Given the description of an element on the screen output the (x, y) to click on. 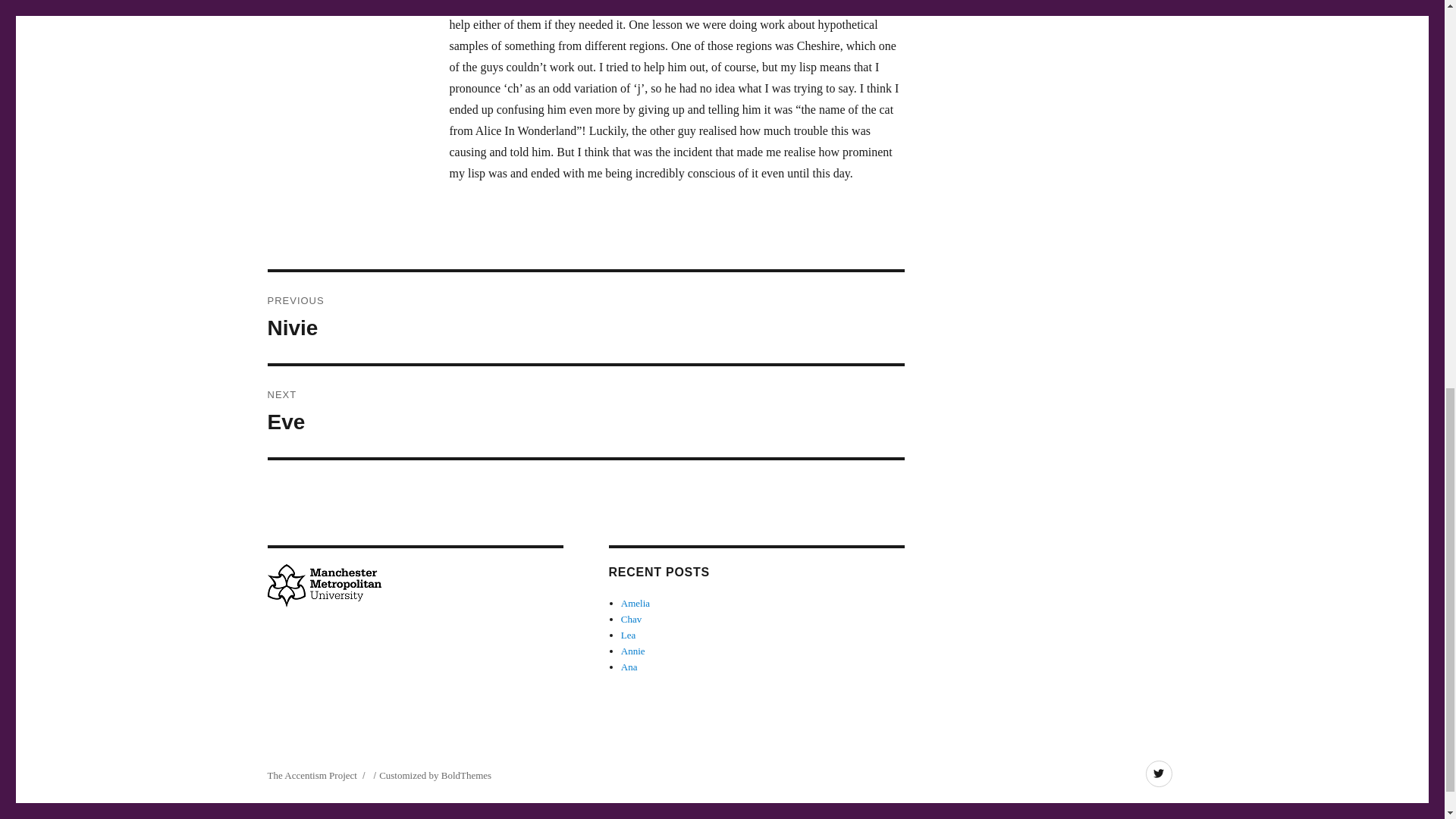
Lea (627, 634)
Annie (585, 411)
Ana (585, 317)
Chav (633, 650)
Amelia (629, 666)
